Given the description of an element on the screen output the (x, y) to click on. 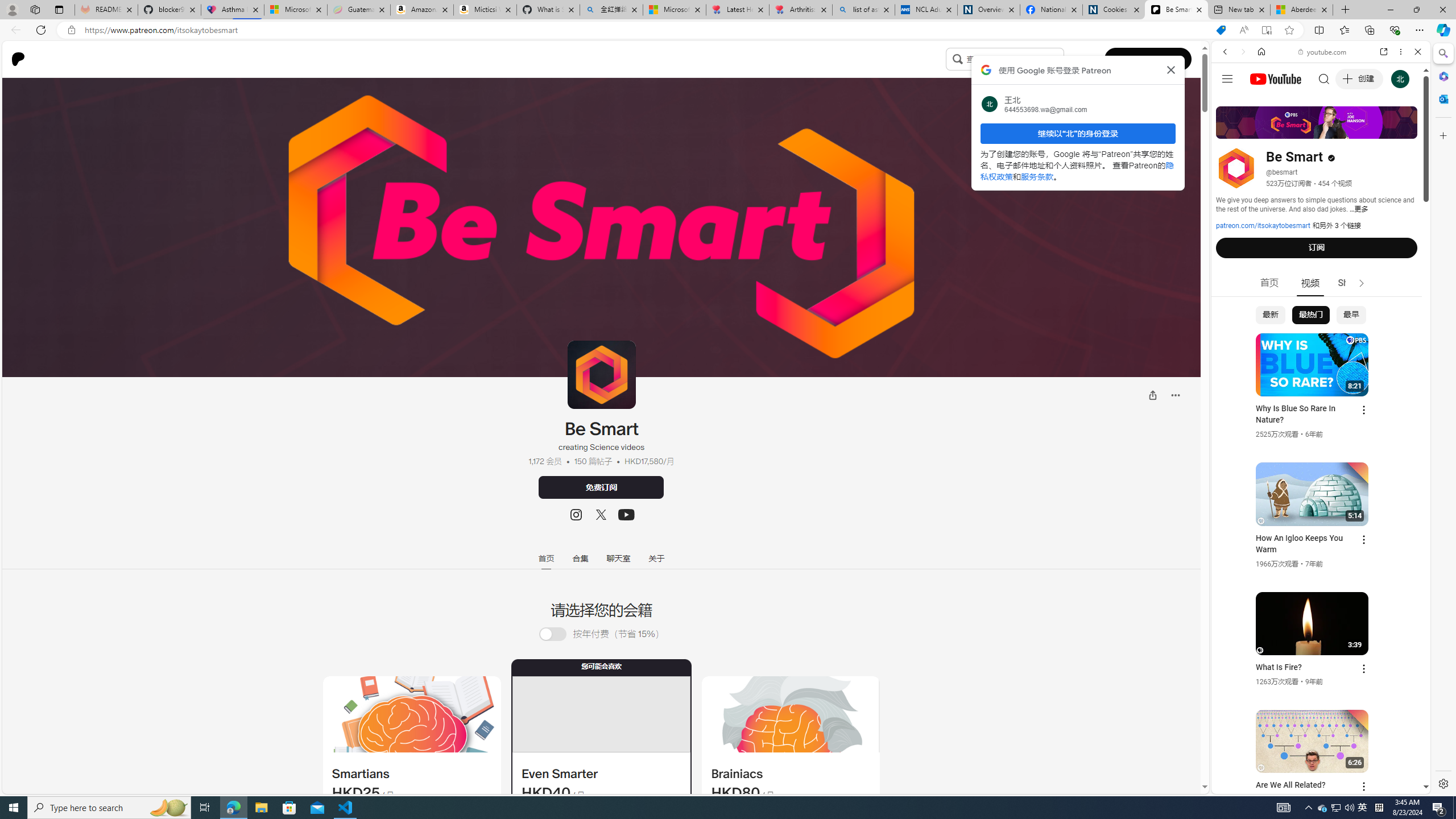
NCL Adult Asthma Inhaler Choice Guideline (925, 9)
you (1315, 755)
Click to scroll right (1407, 456)
Shopping in Microsoft Edge (1220, 29)
SEARCH TOOLS (1350, 130)
Show More Music (1390, 310)
Class: b_serphb (1404, 130)
